Given the description of an element on the screen output the (x, y) to click on. 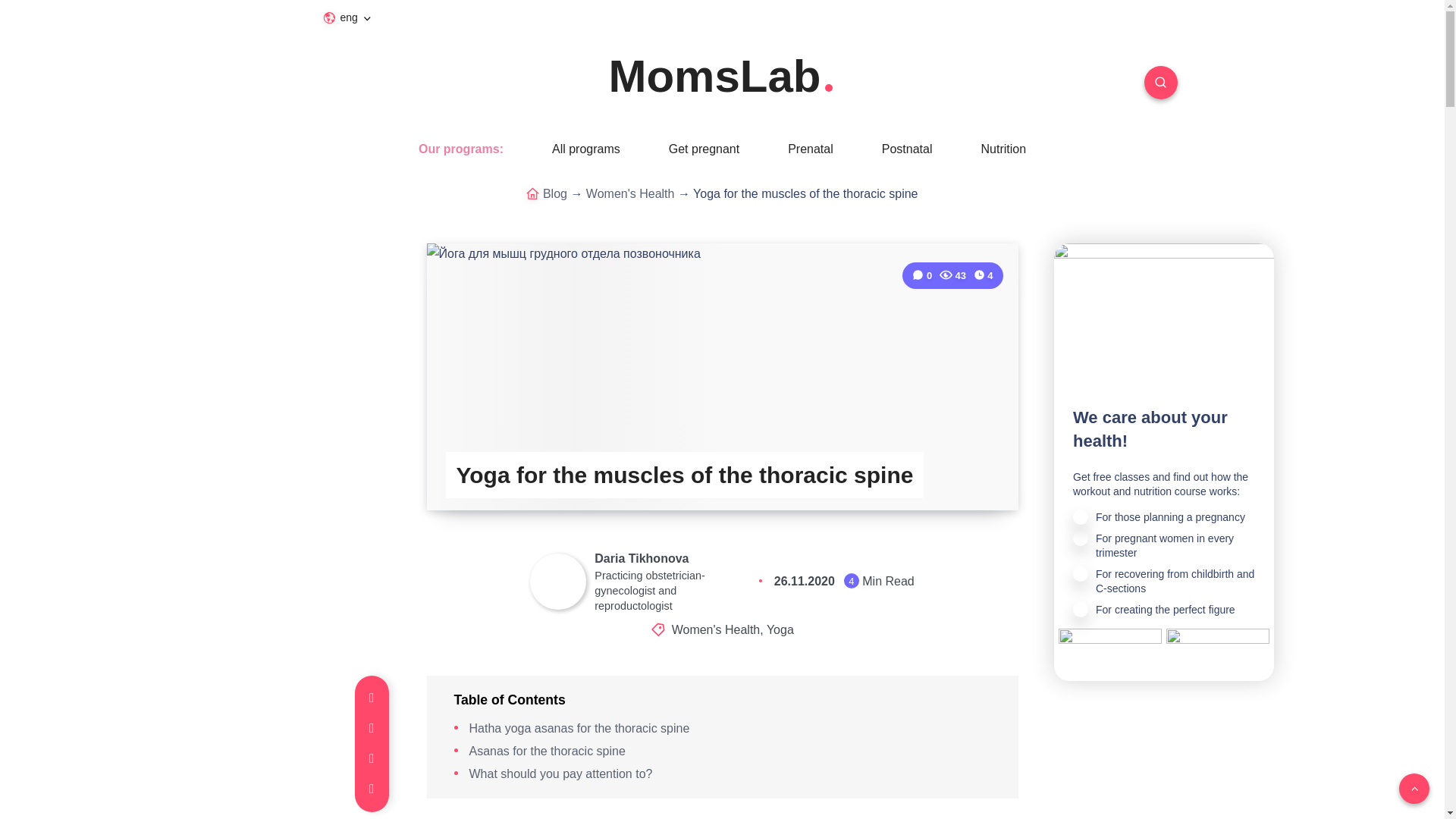
Women's Health (630, 193)
What should you pay attention to? (560, 773)
Women's Health (715, 629)
AppStore (1109, 643)
Asanas for the thoracic spine (546, 750)
Prenatal (809, 149)
Yoga (780, 629)
0 (923, 275)
Nutrition (1002, 149)
